Given the description of an element on the screen output the (x, y) to click on. 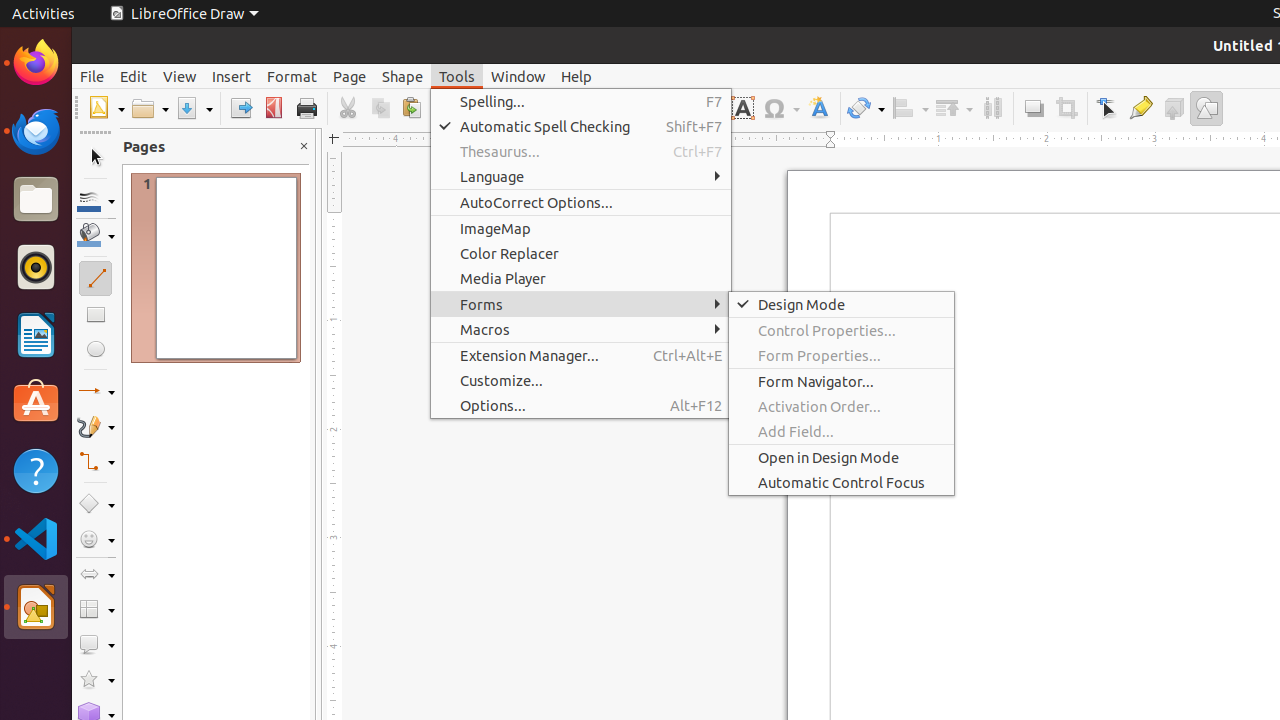
Cut Element type: push-button (347, 108)
Fontwork Style Element type: toggle-button (819, 108)
Language Element type: menu (581, 176)
PDF Element type: push-button (273, 108)
Transformations Element type: push-button (866, 108)
